Given the description of an element on the screen output the (x, y) to click on. 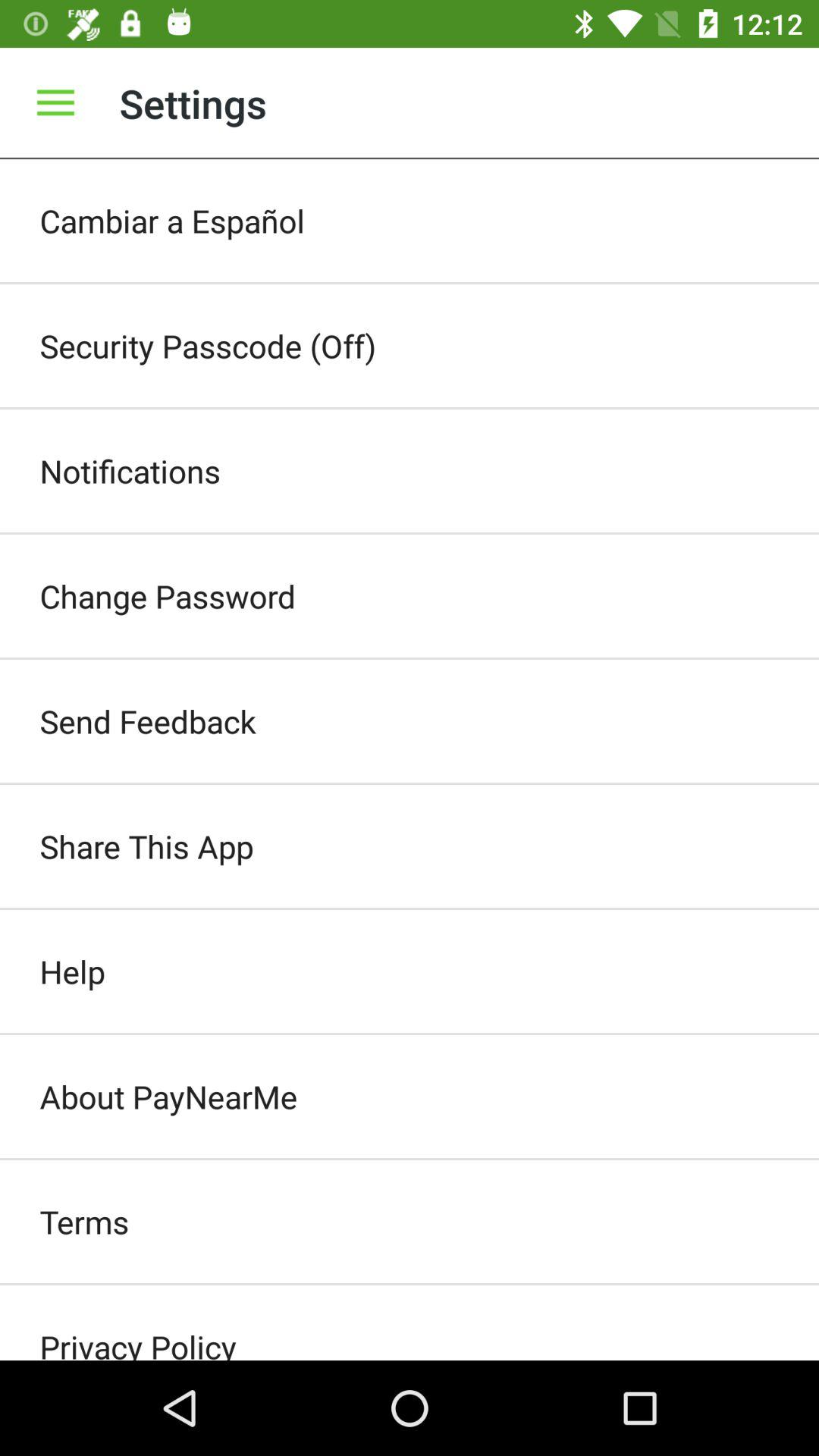
press the item below send feedback icon (409, 845)
